Given the description of an element on the screen output the (x, y) to click on. 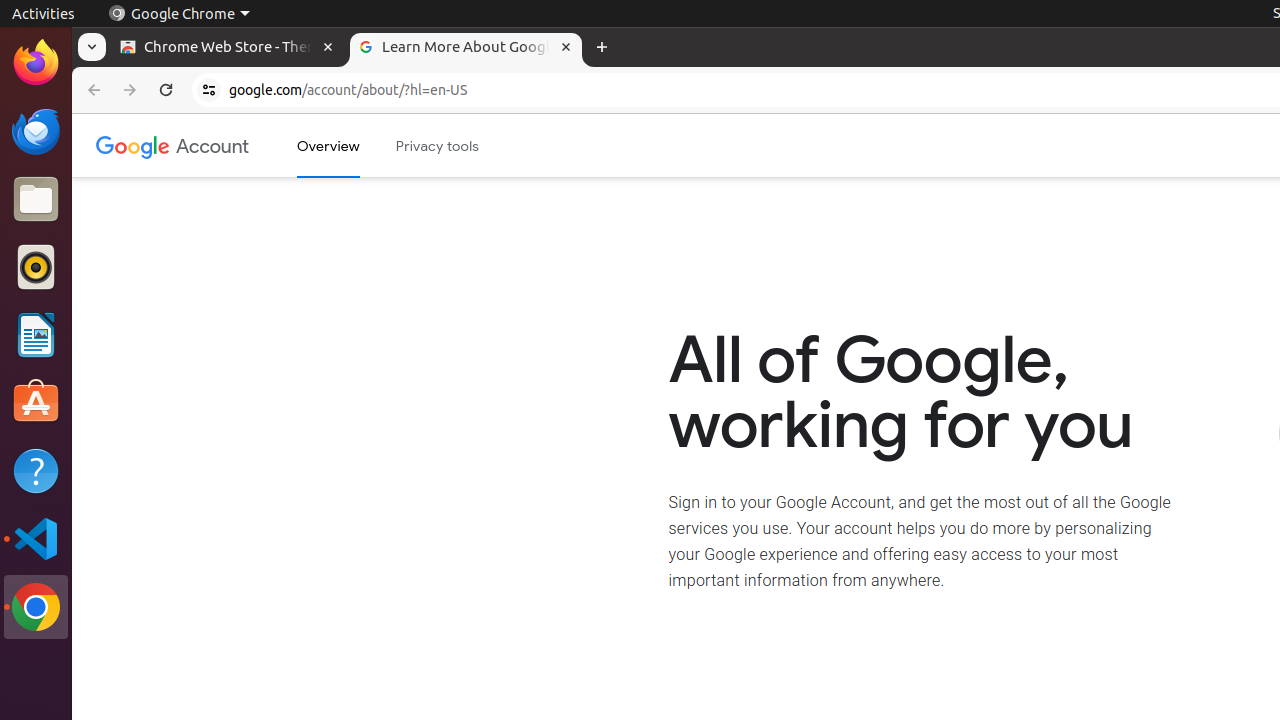
Google logo Element type: link (133, 146)
Files Element type: push-button (36, 199)
Rhythmbox Element type: push-button (36, 267)
Privacy tools Element type: link (437, 146)
Google Chrome Element type: push-button (36, 607)
